Given the description of an element on the screen output the (x, y) to click on. 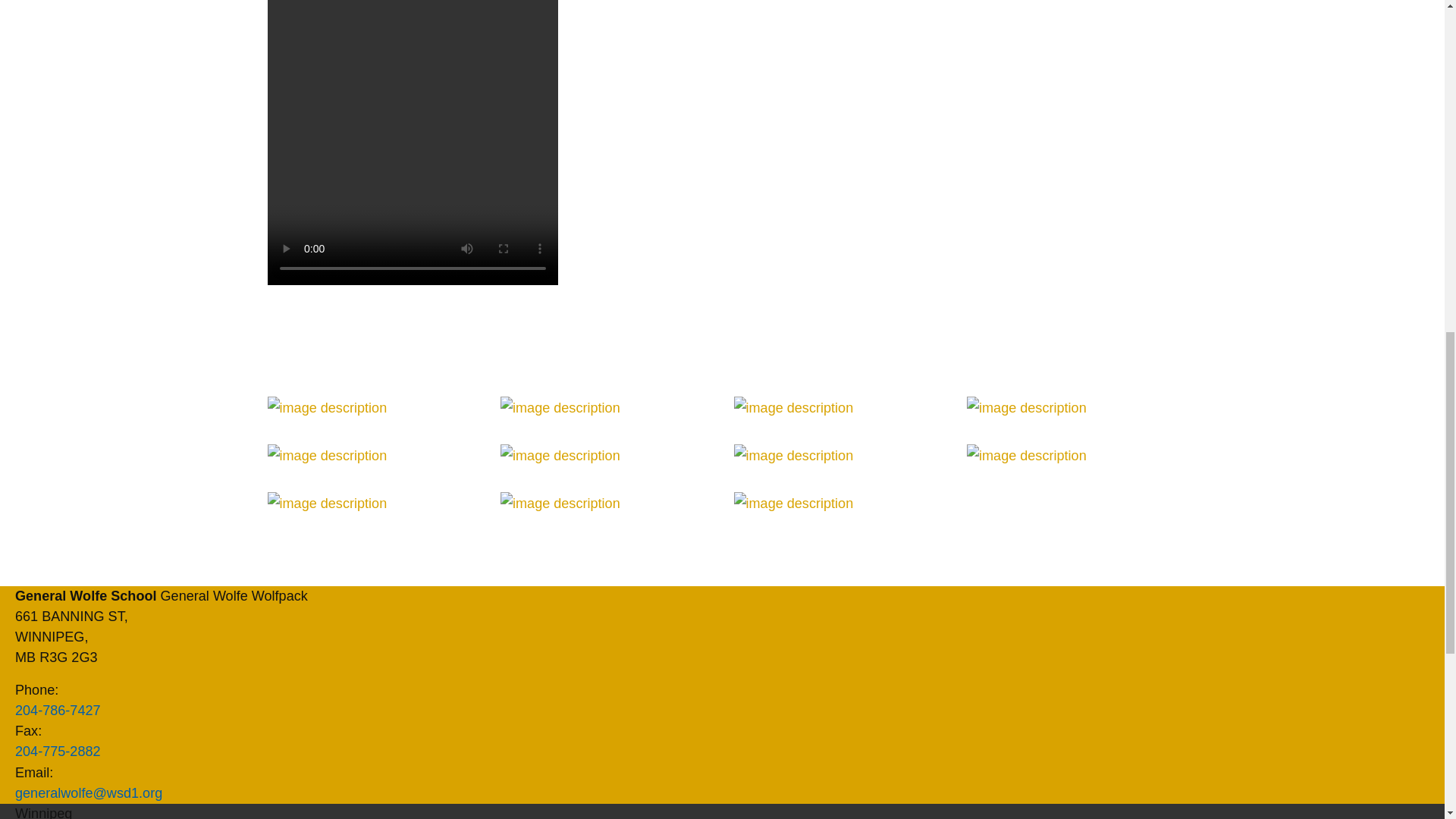
Sleds (605, 454)
Sleds (1071, 454)
Don't hit the wall (371, 454)
Sleds (838, 454)
At the Park (605, 407)
Sleds (371, 407)
Vimy Ridge Snowshoes (605, 503)
Sleds (371, 503)
Sleds (1071, 407)
Happy Snowshoes (838, 407)
